Given the description of an element on the screen output the (x, y) to click on. 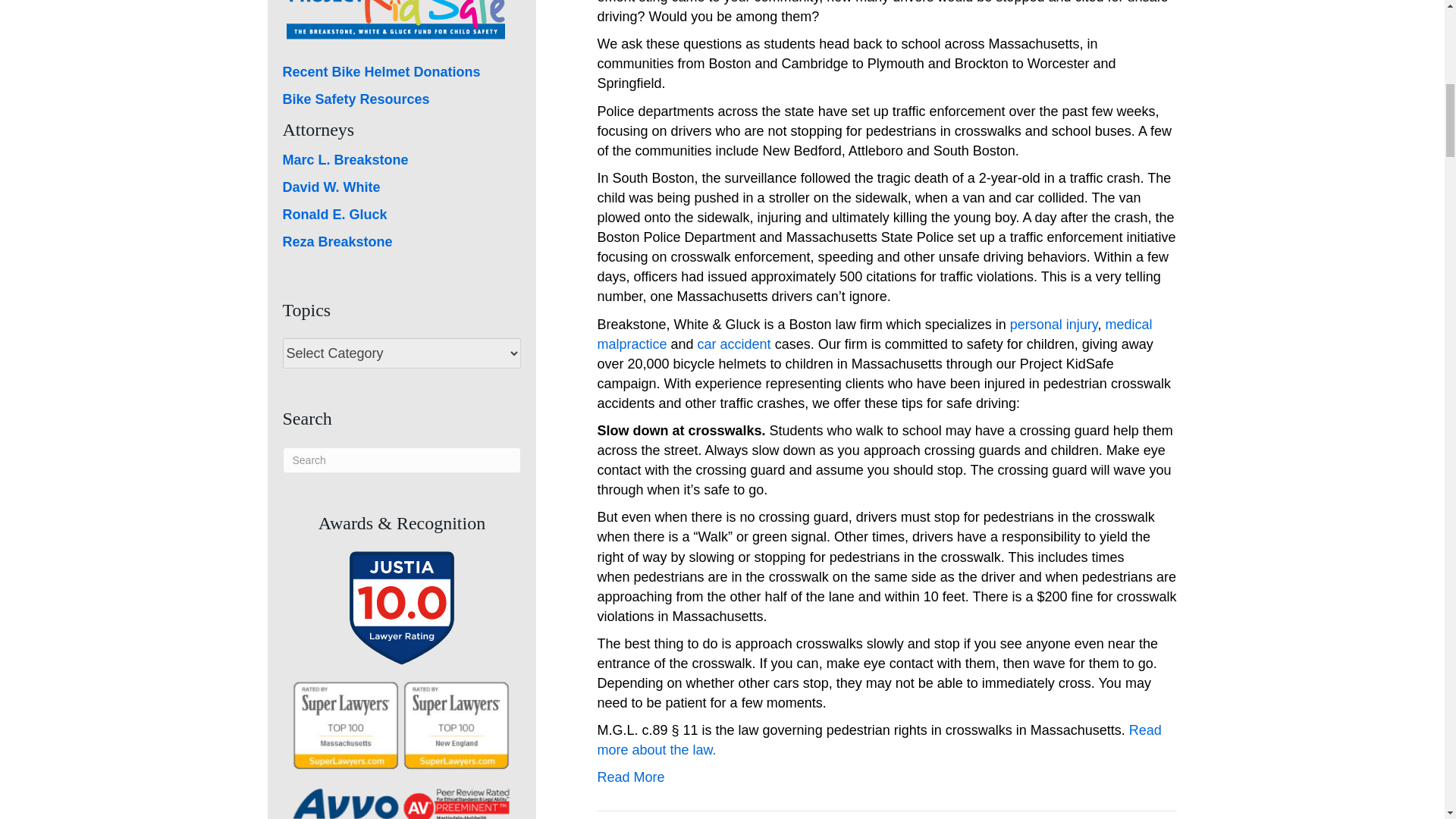
David W. White (331, 186)
personal injury (1053, 324)
Read More (629, 776)
Marc L. Breakstone (344, 159)
Reza Breakstone (336, 241)
Bike Safety Resources (355, 99)
Ronald E. Gluck (334, 214)
Recent Bike Helmet Donations (381, 71)
medical malpractice (873, 334)
Read more about the law. (878, 739)
